Given the description of an element on the screen output the (x, y) to click on. 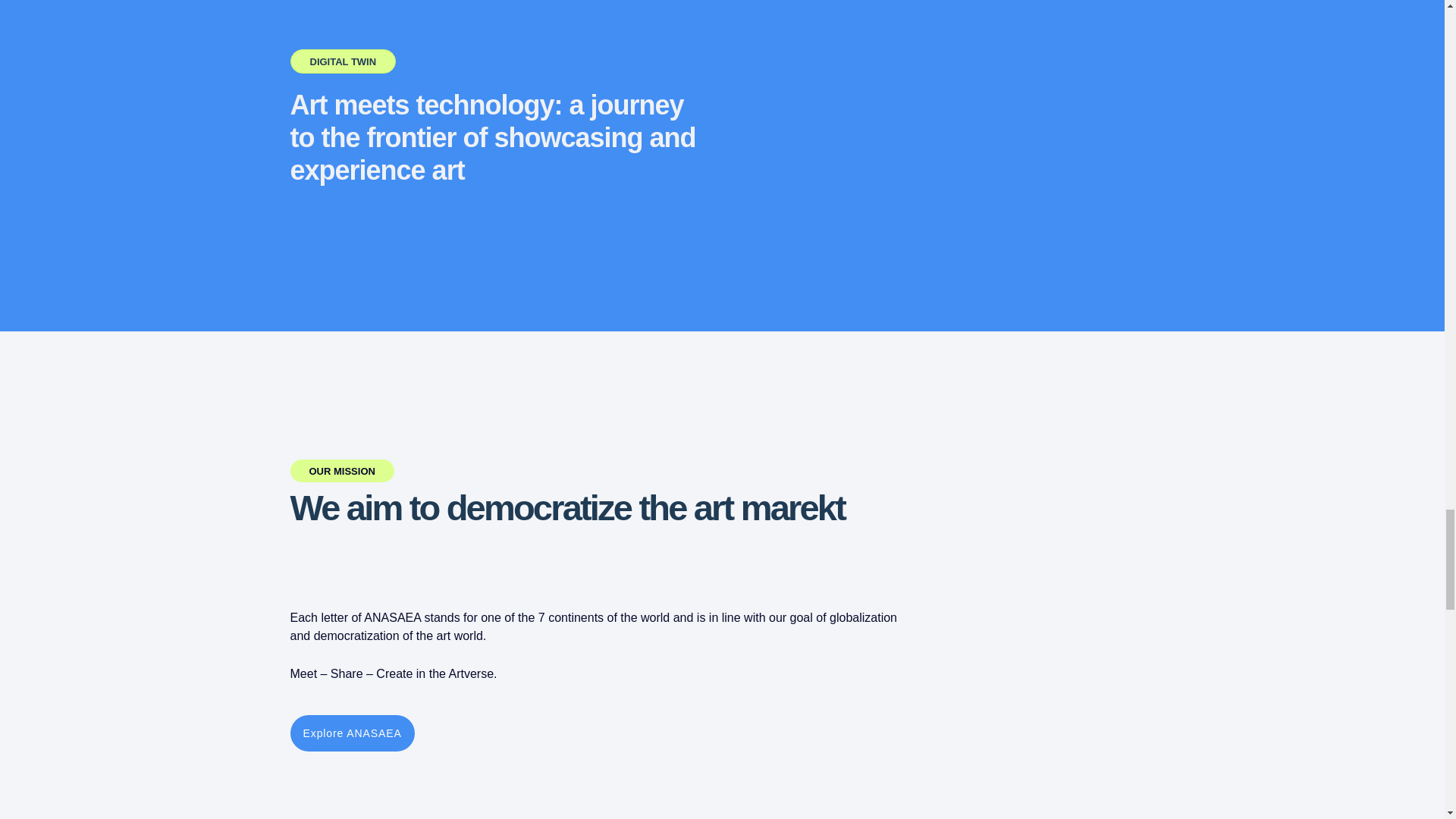
Explore ANASAEA (351, 732)
